Given the description of an element on the screen output the (x, y) to click on. 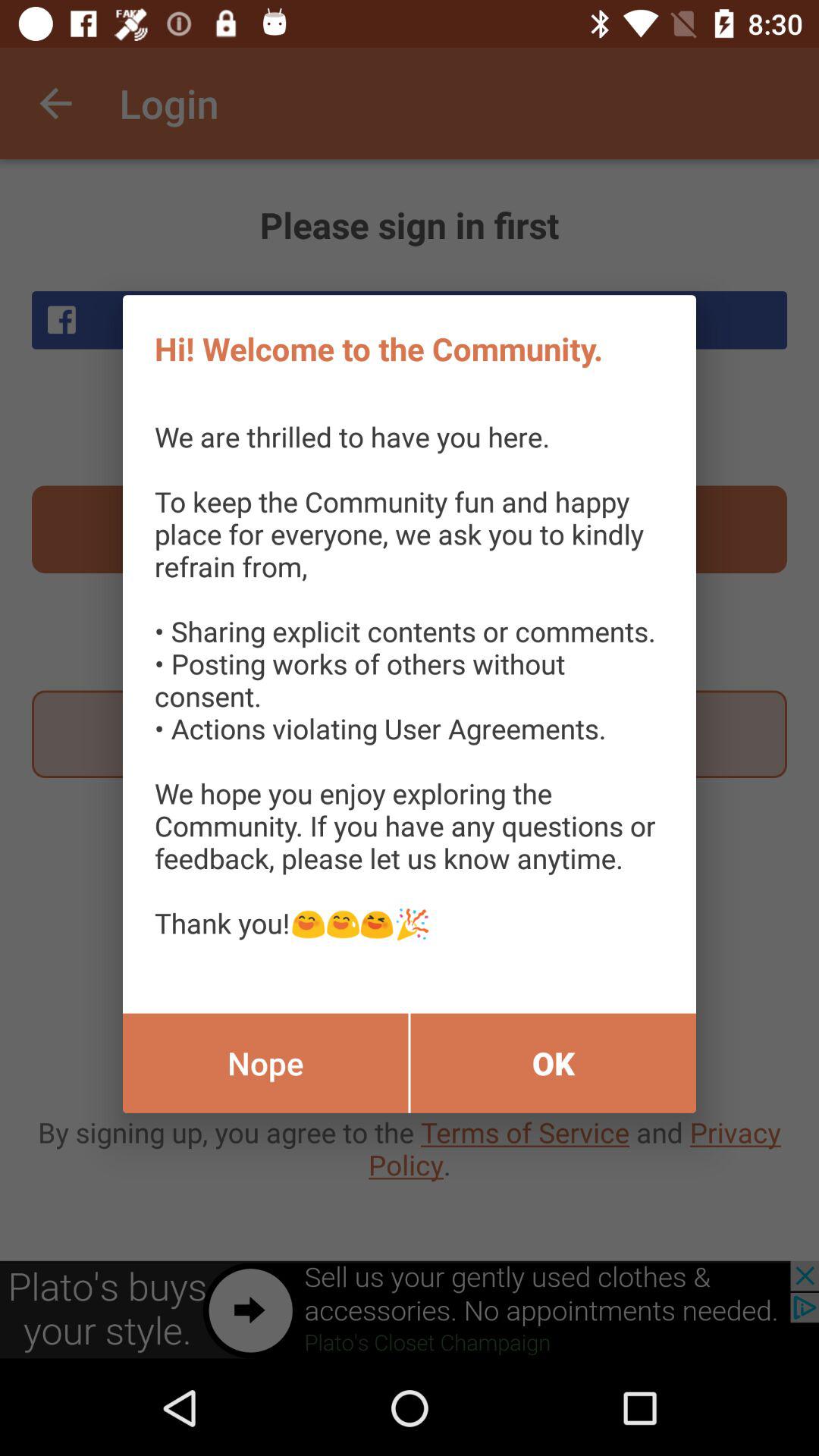
turn off nope icon (265, 1063)
